Given the description of an element on the screen output the (x, y) to click on. 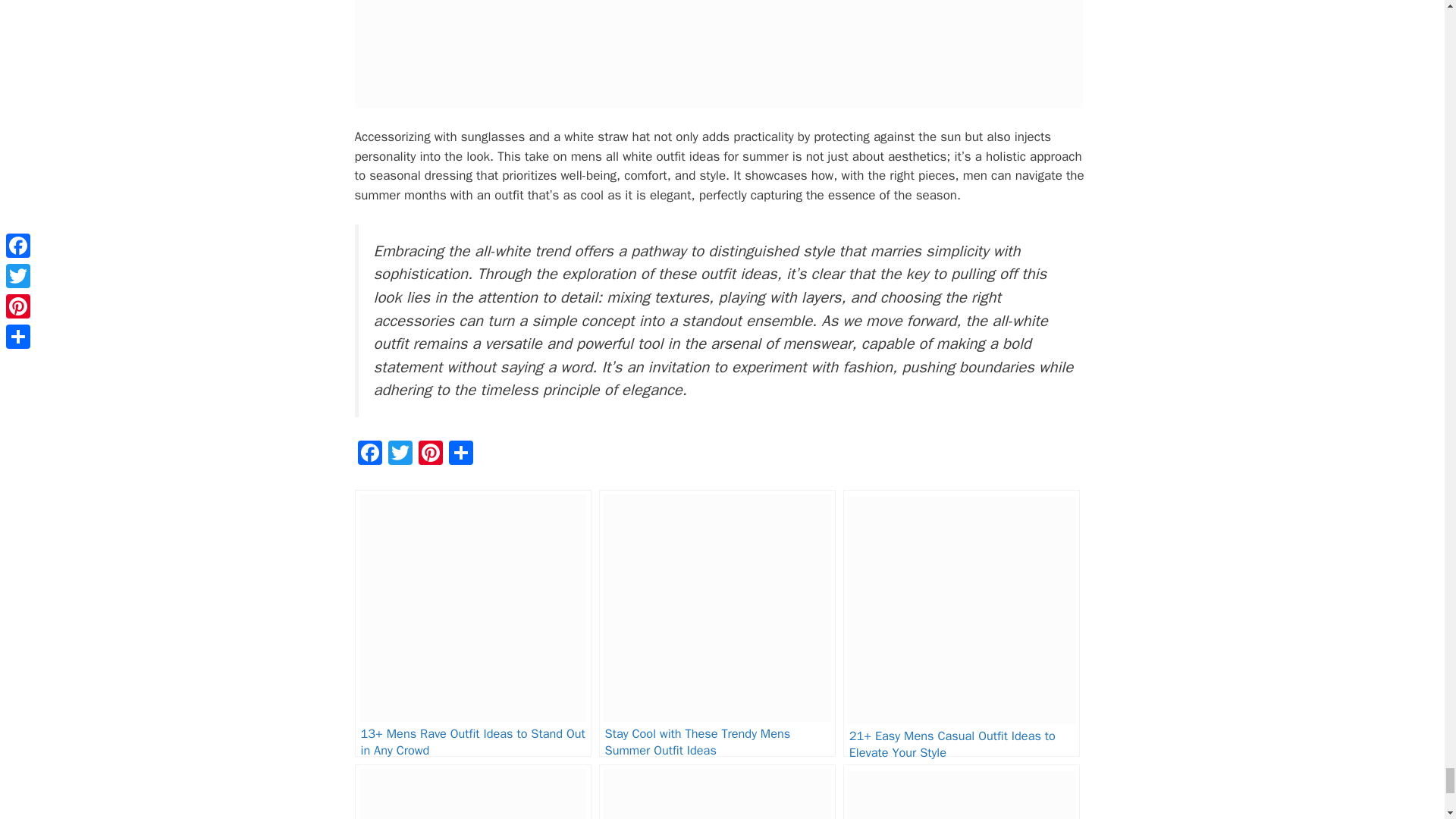
Pinterest (429, 454)
Twitter (399, 454)
Facebook (370, 454)
